Given the description of an element on the screen output the (x, y) to click on. 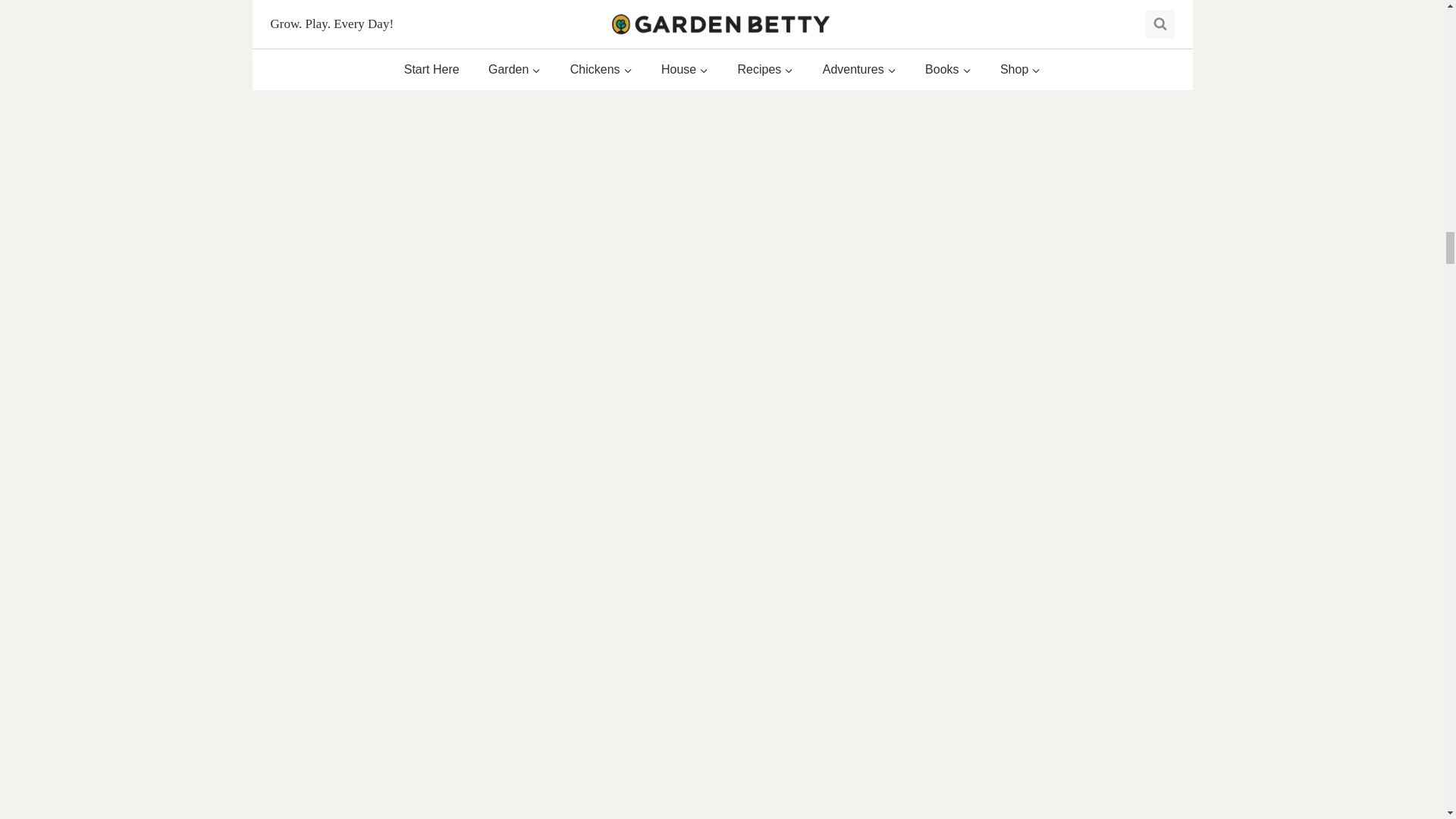
Favorite Moments from Pagosa Springs (563, 708)
